Given the description of an element on the screen output the (x, y) to click on. 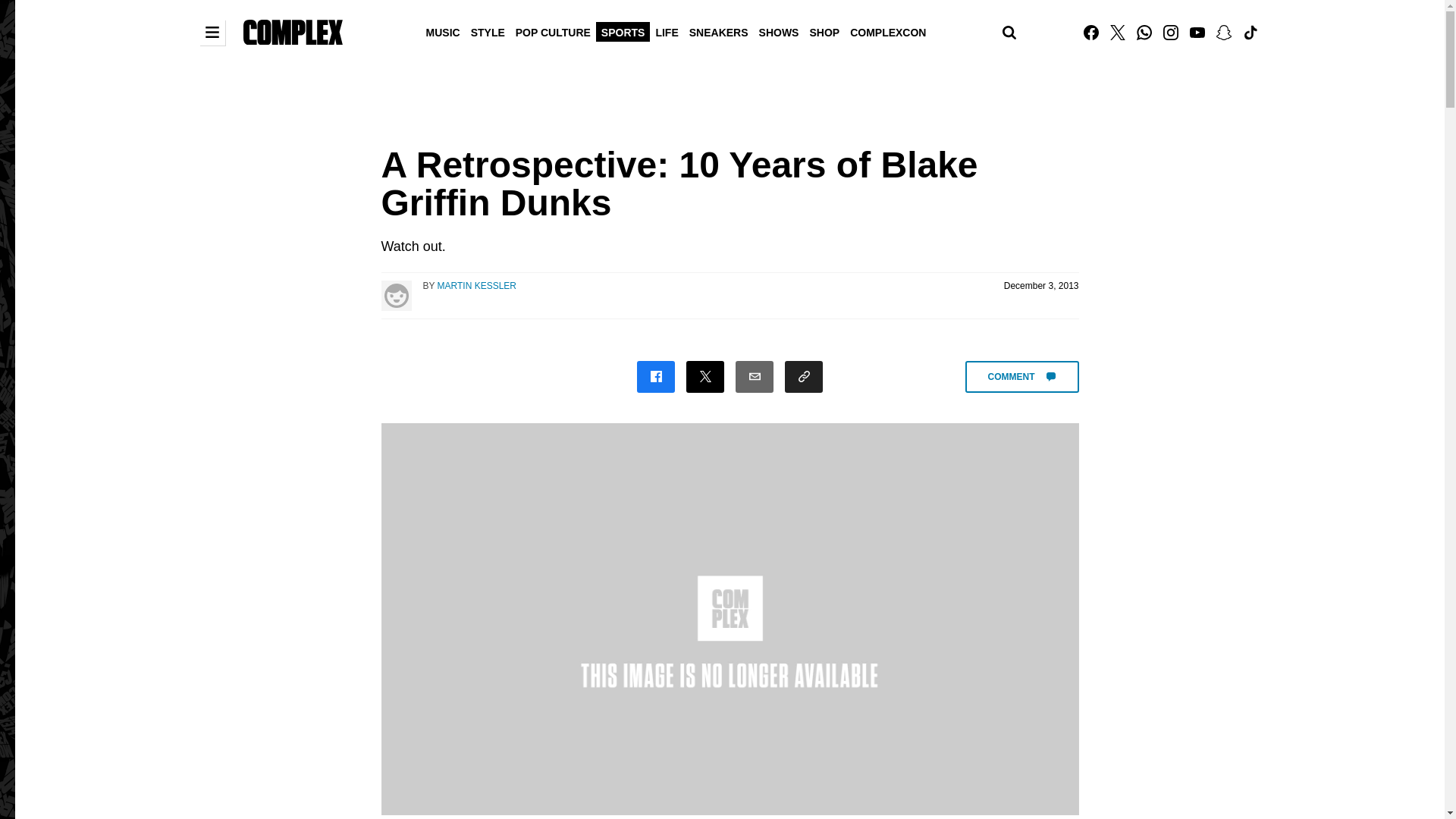
COMPLEXCON (887, 30)
SNEAKERS (719, 30)
SPORTS (622, 30)
SHOWS (779, 30)
LIFE (665, 30)
SHOP (823, 30)
POP CULTURE (553, 30)
STYLE (488, 30)
MUSIC (442, 30)
